Given the description of an element on the screen output the (x, y) to click on. 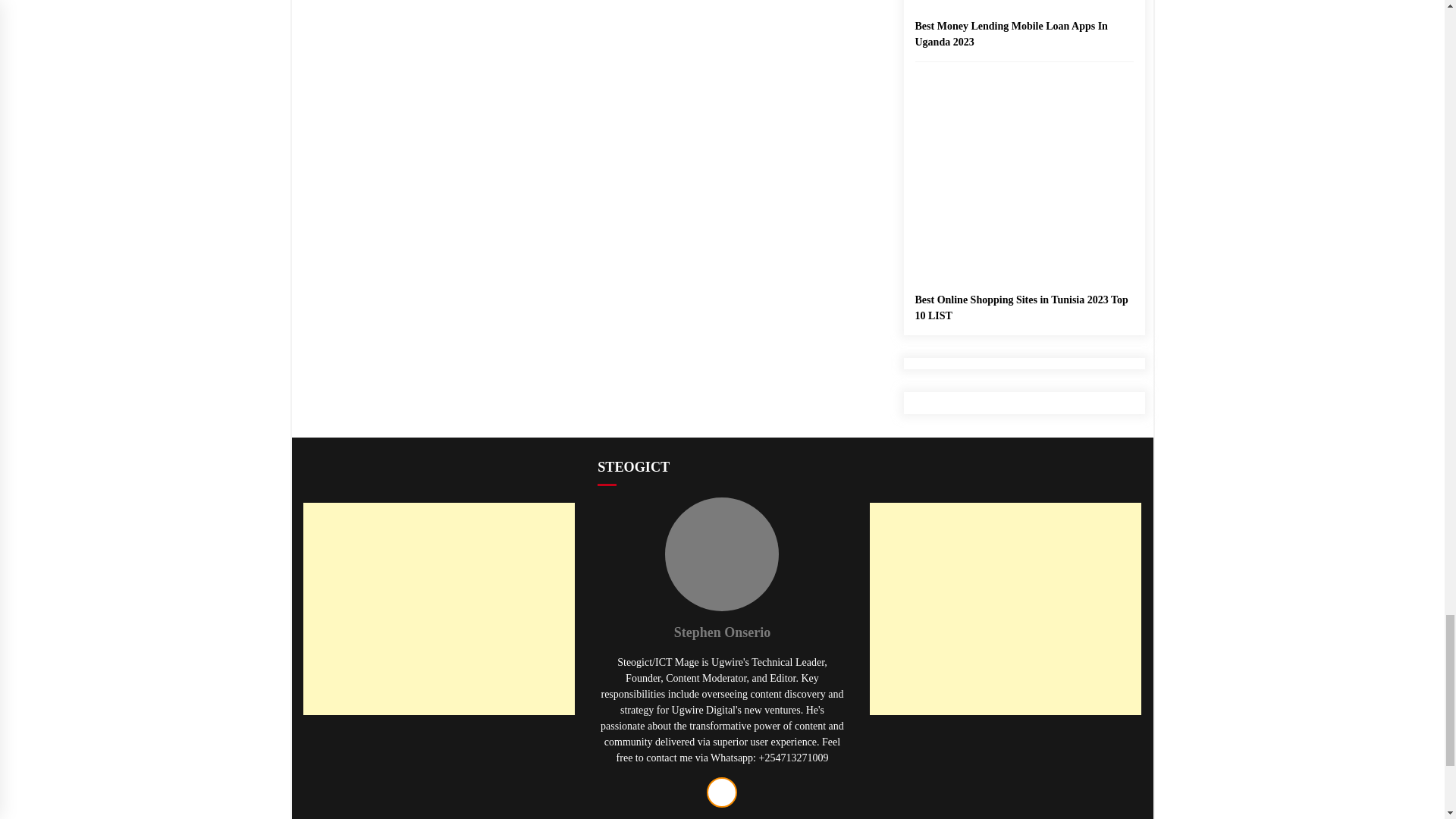
Best Money Lending Mobile Loan Apps In Uganda 2023 (1023, 24)
Advertisement (1005, 775)
Advertisement (438, 775)
Best Online Shopping Sites in Tunisia 2023 Top 10 LIST (1023, 249)
